Given the description of an element on the screen output the (x, y) to click on. 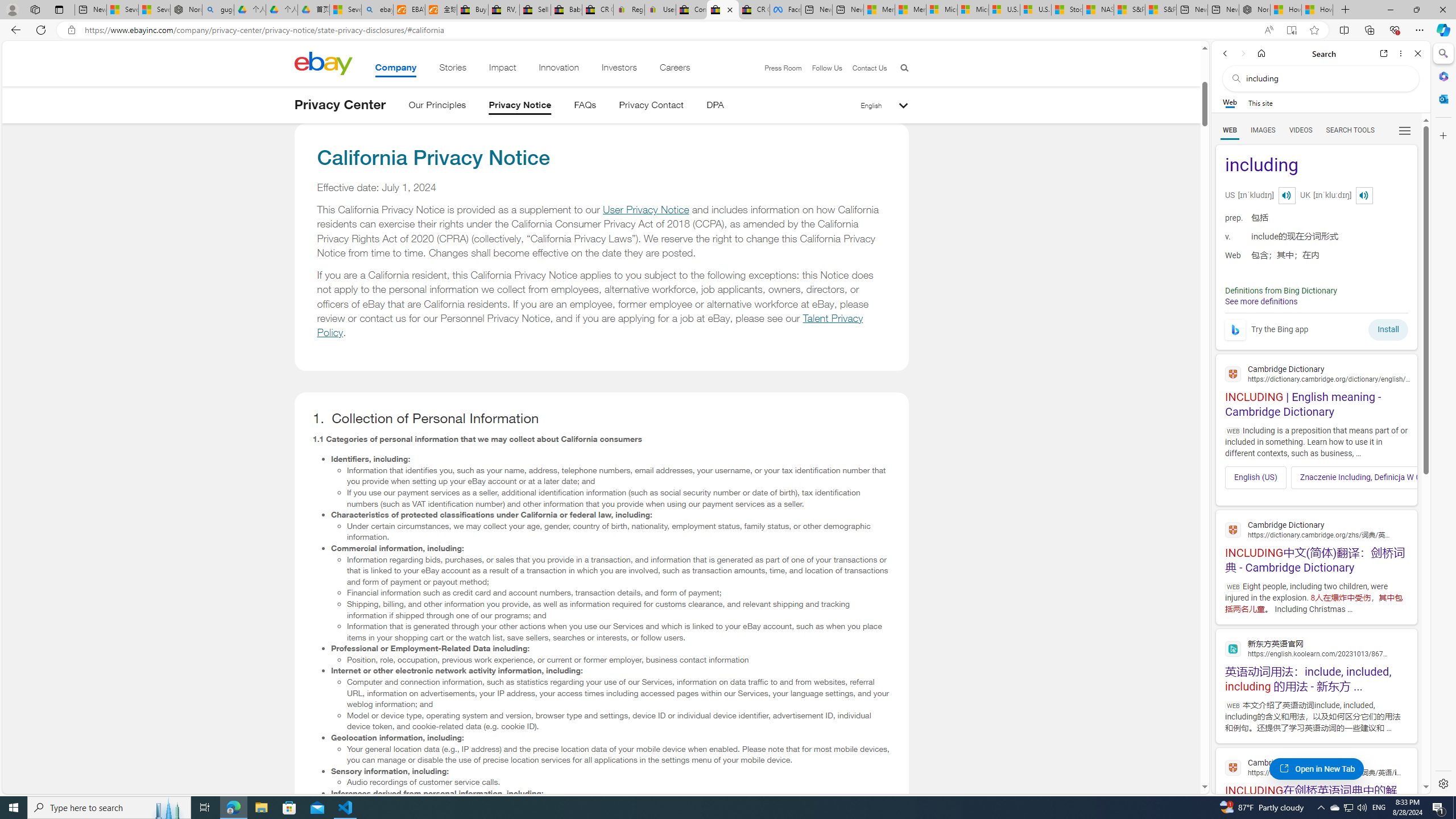
S&P 500, Nasdaq end lower, weighed by Nvidia dip | Watch (1160, 9)
Our Principles (436, 107)
Class: b_serphb (1404, 130)
Audio recordings of customer service calls. (618, 781)
Search Filter, Search Tools (1350, 129)
guge yunpan - Search (218, 9)
Global web icon (1232, 767)
FAQs (584, 107)
Search the web (1326, 78)
